Given the description of an element on the screen output the (x, y) to click on. 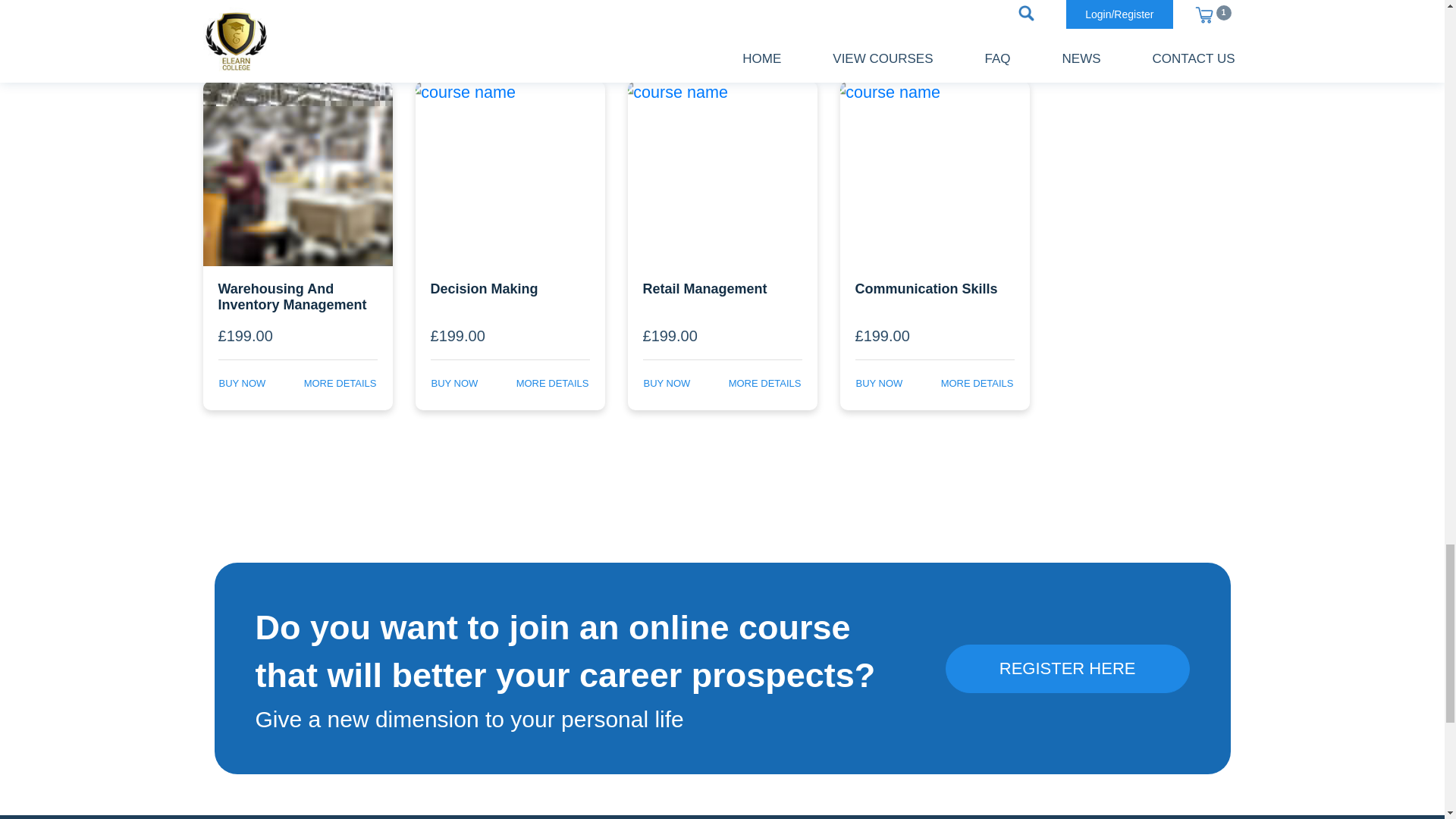
Retail Management (721, 294)
Communication Skills (934, 294)
Warehousing And Inventory Management (298, 294)
Decision Making (509, 294)
